Given the description of an element on the screen output the (x, y) to click on. 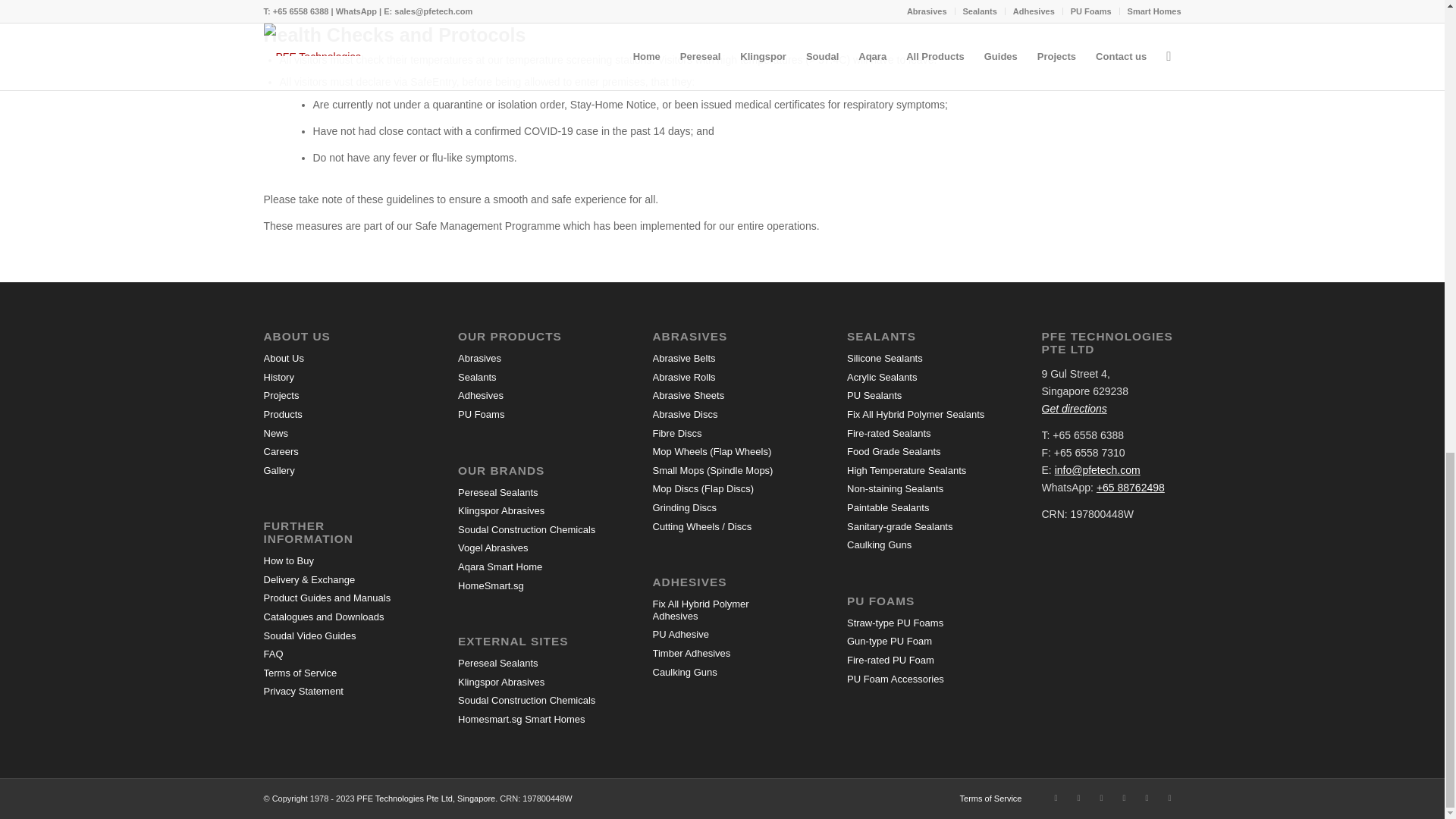
LinkedIn (1101, 797)
Mail (1169, 797)
Facebook (1056, 797)
Whatsapp (1146, 797)
Instagram (1078, 797)
Youtube (1124, 797)
